Given the description of an element on the screen output the (x, y) to click on. 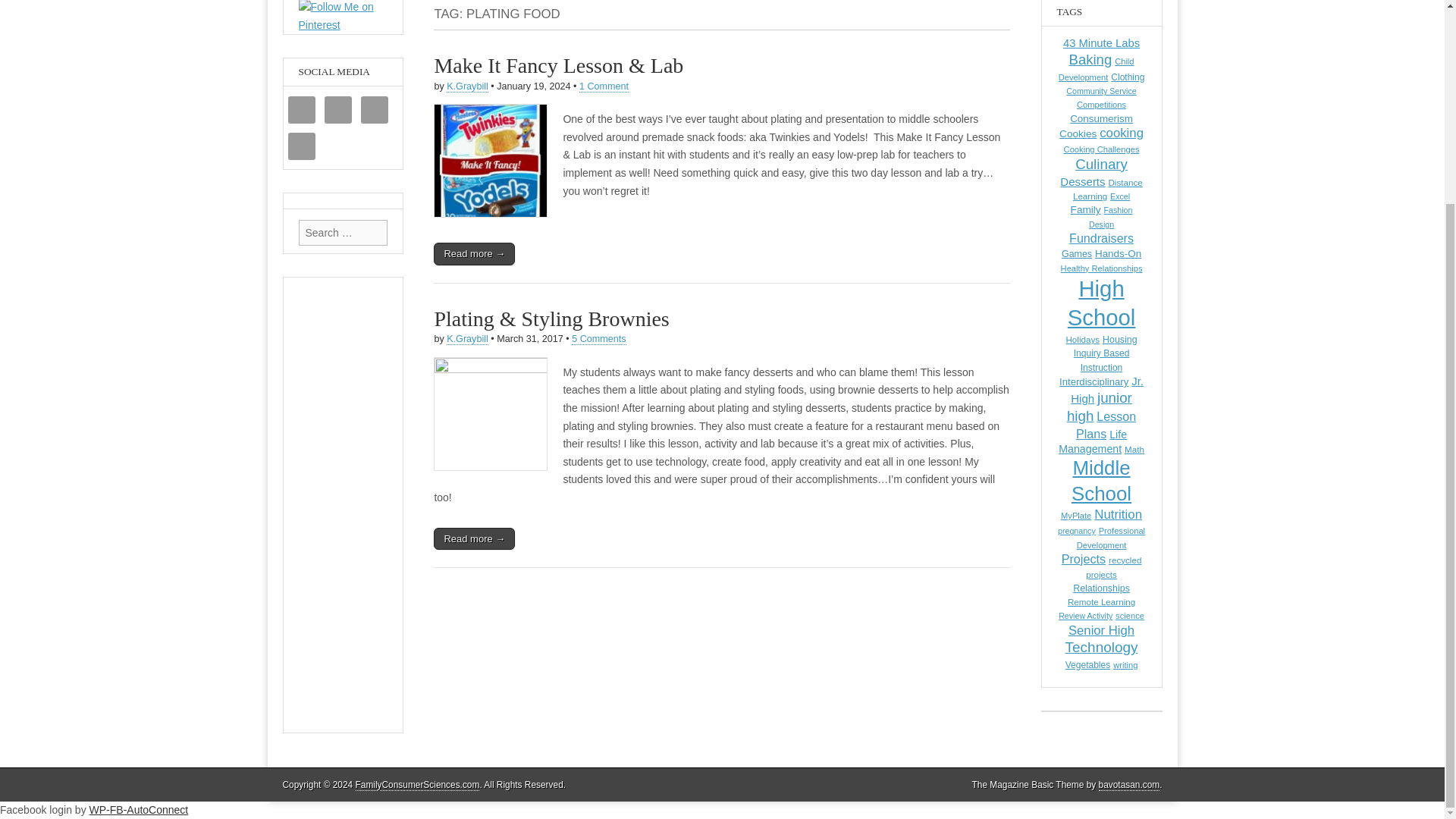
Posts by K.Graybill (466, 338)
Posts by K.Graybill (466, 86)
